Given the description of an element on the screen output the (x, y) to click on. 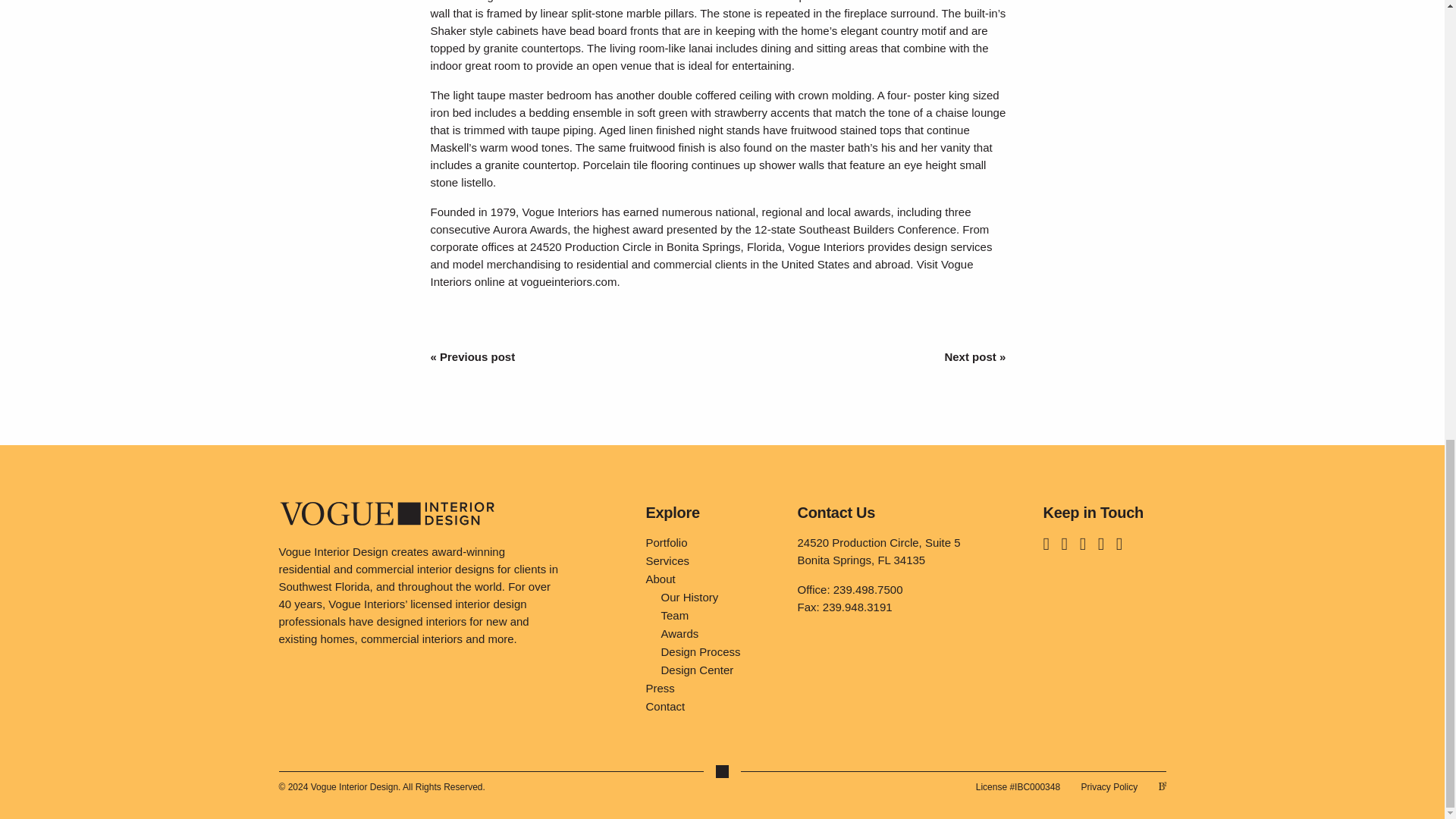
Team (717, 615)
Design Center (717, 669)
Services (709, 561)
Our History (717, 597)
Portfolio (709, 542)
Contact (709, 706)
Design Process (717, 651)
239.498.7500 (867, 589)
Press (709, 688)
Awards (717, 633)
About (709, 579)
